Given the description of an element on the screen output the (x, y) to click on. 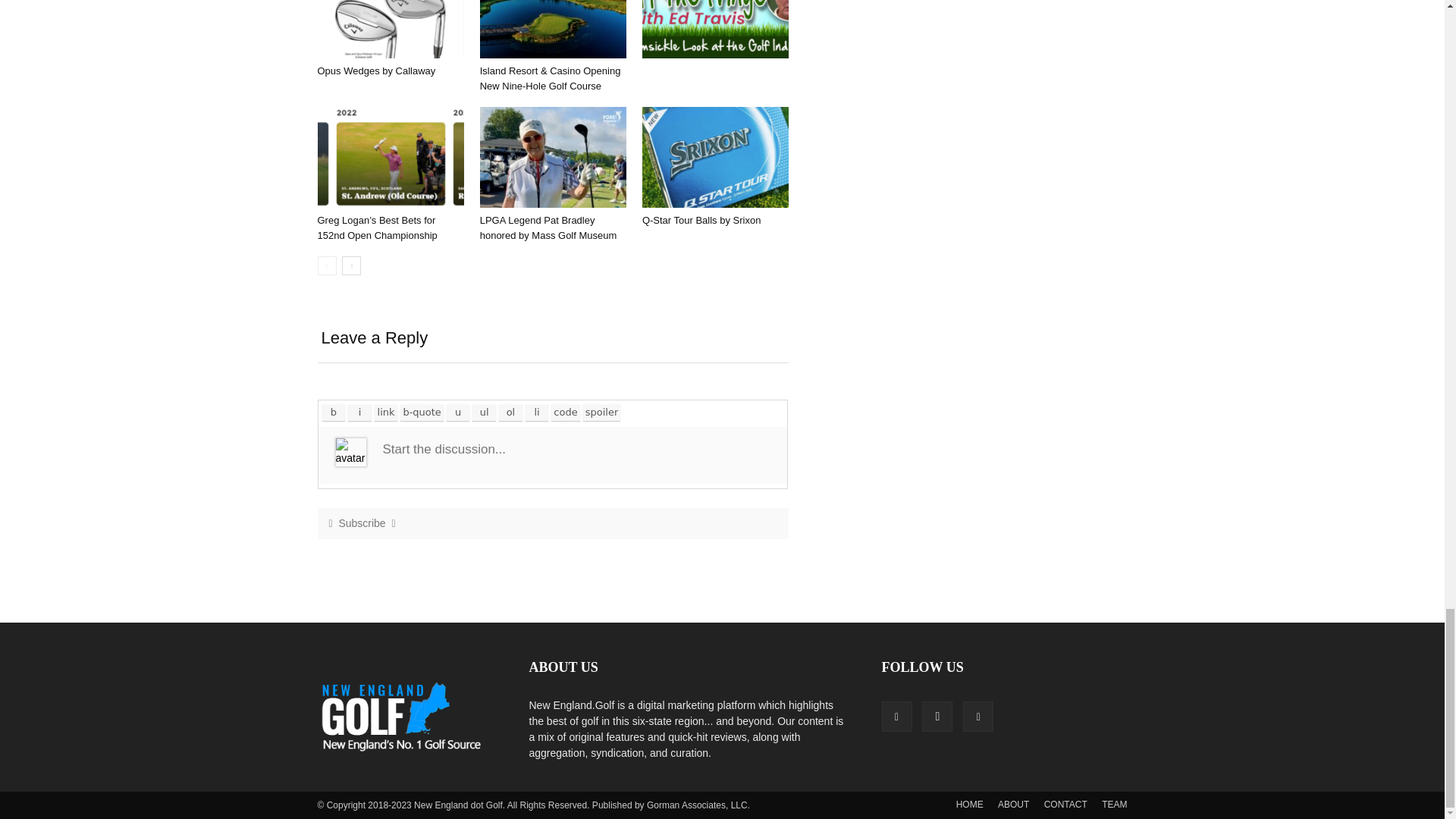
i (359, 412)
Opus Wedges by Callaway (376, 70)
ol (510, 412)
b (333, 412)
b-quote (421, 412)
U (458, 412)
Opus Wedges by Callaway (390, 29)
spoiler (602, 412)
ul (483, 412)
code (565, 412)
li (536, 412)
link (385, 412)
